Given the description of an element on the screen output the (x, y) to click on. 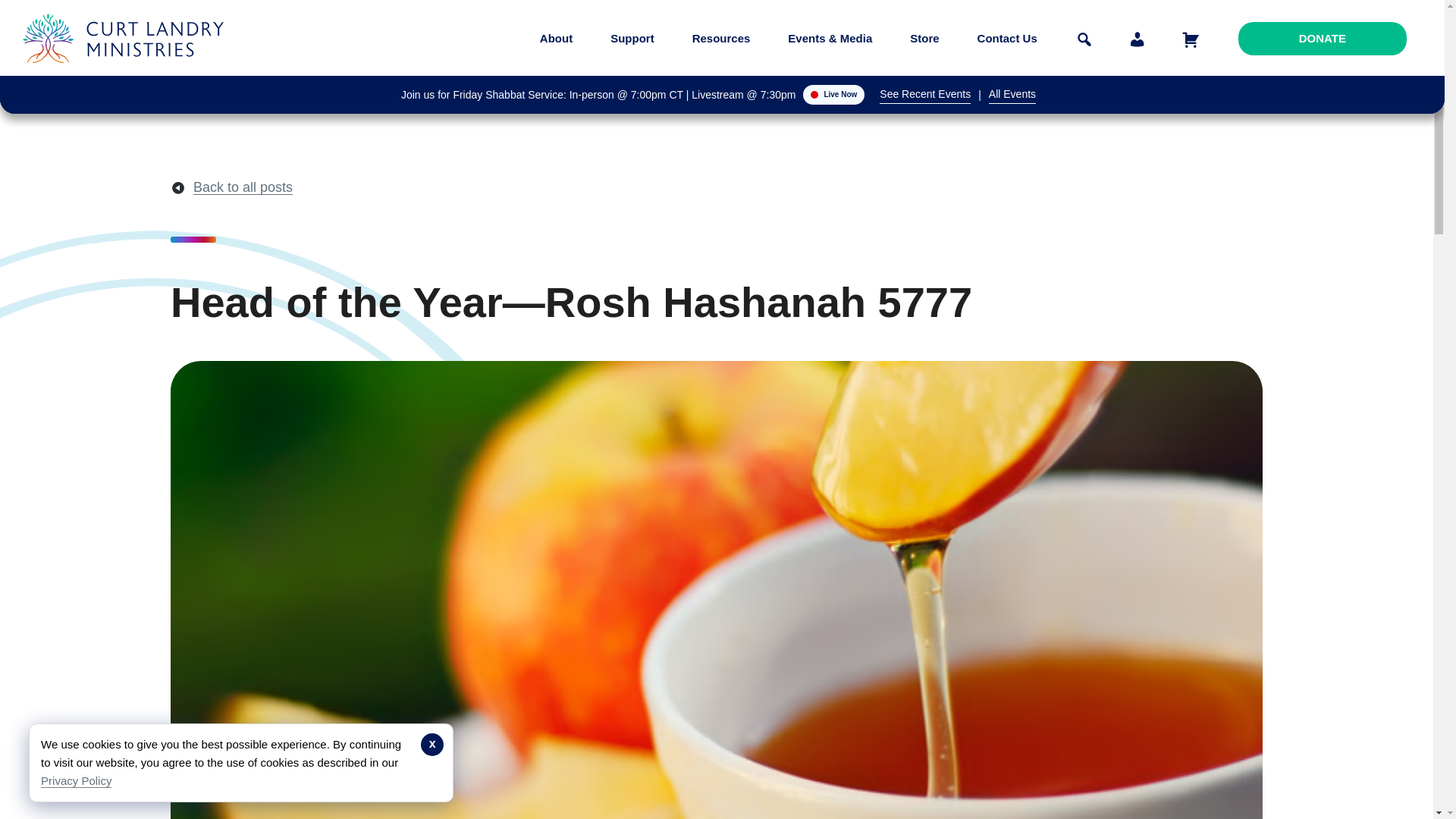
Support (631, 38)
Curt Landry Ministries (127, 74)
Store (924, 38)
About (556, 38)
Resources (721, 38)
